Given the description of an element on the screen output the (x, y) to click on. 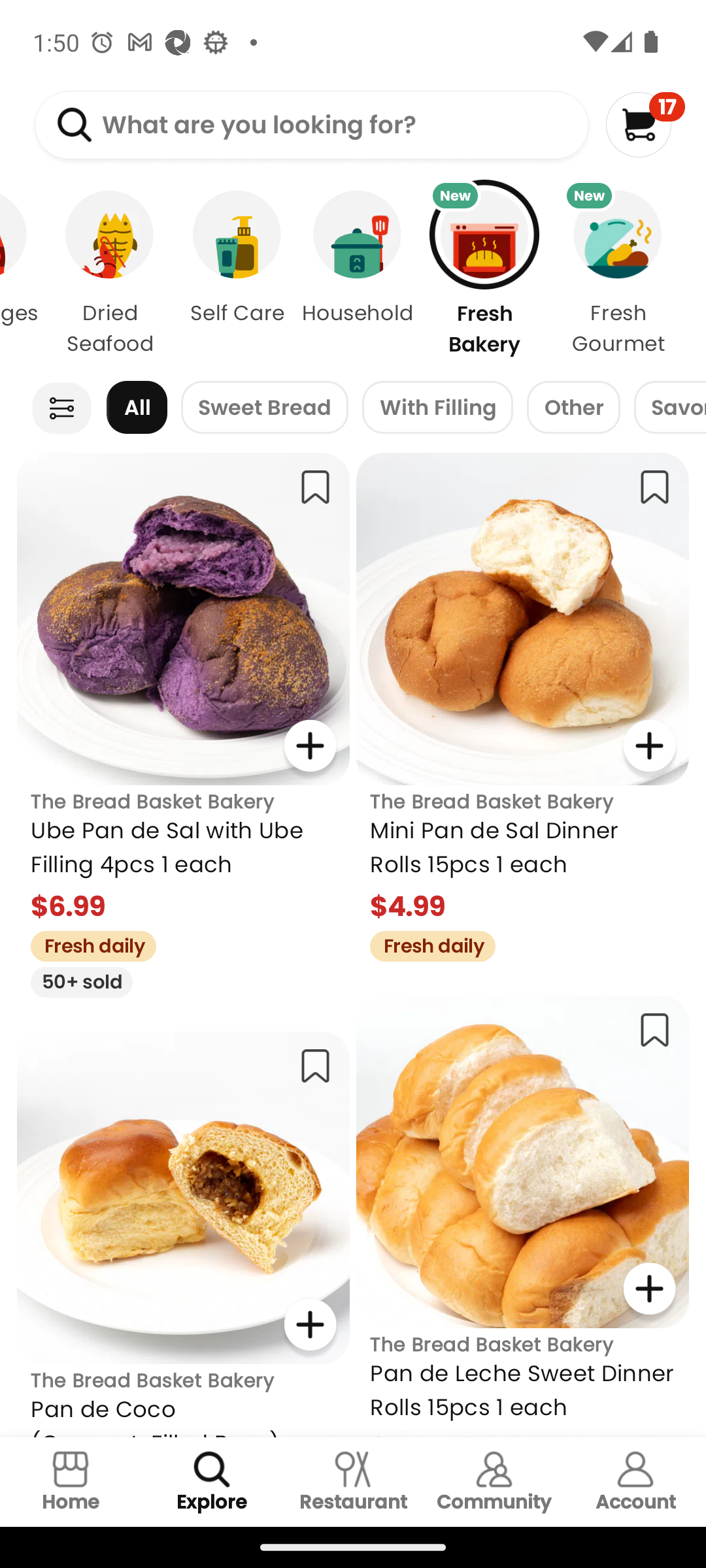
What are you looking for? (311, 124)
17 (644, 124)
Dried Seafood (110, 273)
Self Care (237, 273)
Household (357, 273)
New Fresh Bakery (484, 273)
New Fresh Gourmet (628, 273)
All (136, 407)
Sweet Bread (264, 407)
With Filling (437, 407)
Other (573, 407)
Savory Bread (669, 407)
Fresh daily (86, 943)
Fresh daily (425, 943)
Home (70, 1482)
Explore (211, 1482)
Restaurant (352, 1482)
Community (493, 1482)
Account (635, 1482)
